Given the description of an element on the screen output the (x, y) to click on. 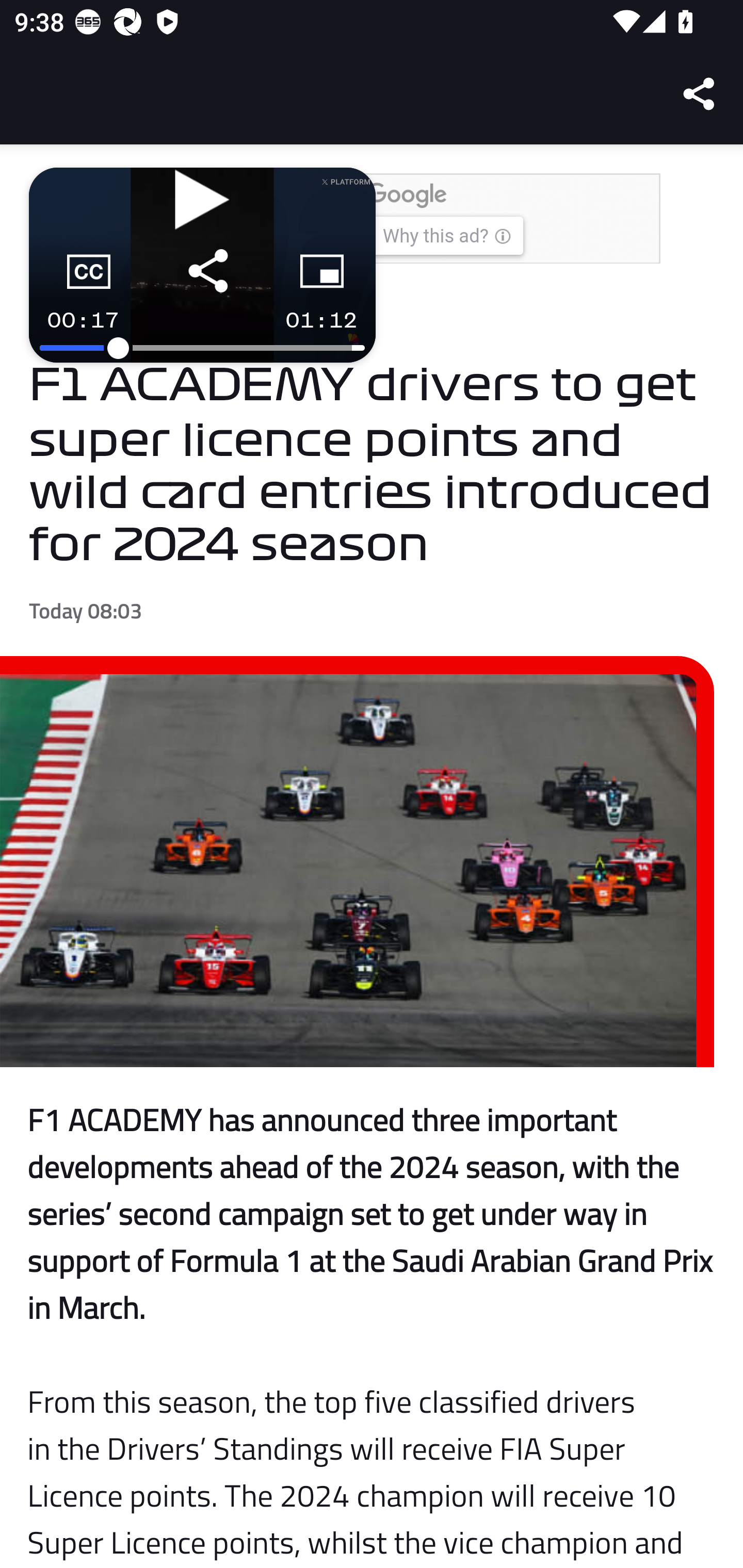
Share (699, 93)
